Given the description of an element on the screen output the (x, y) to click on. 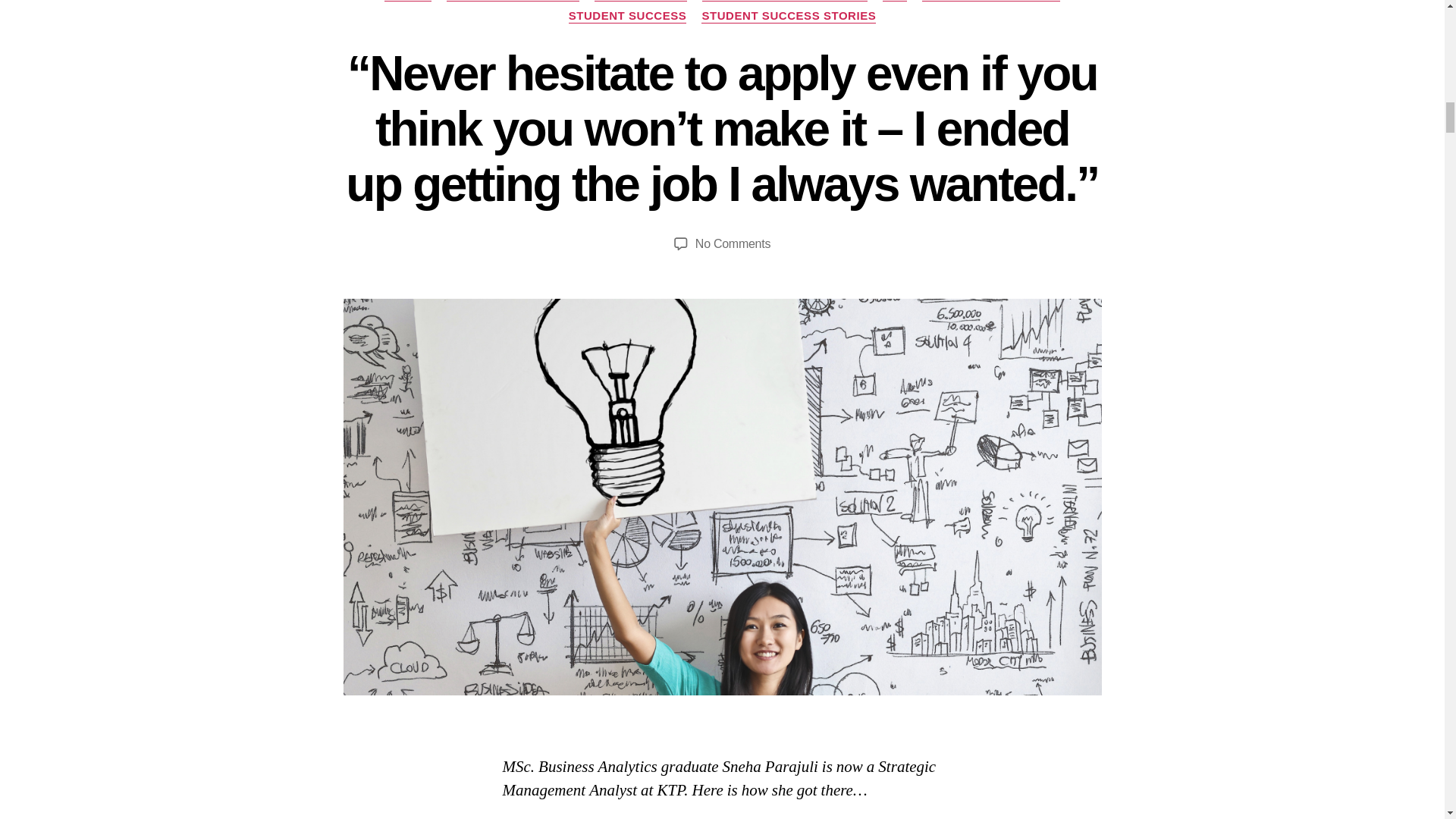
GRADFEST2021 (640, 0)
STUDENT SUCCESS STORIES (788, 16)
STUDENT EXPERIENCE (990, 0)
KTP (894, 0)
STUDENT SUCCESS (628, 16)
BUSINESS ANALYTICS (512, 0)
ALUMNI (407, 0)
